Given the description of an element on the screen output the (x, y) to click on. 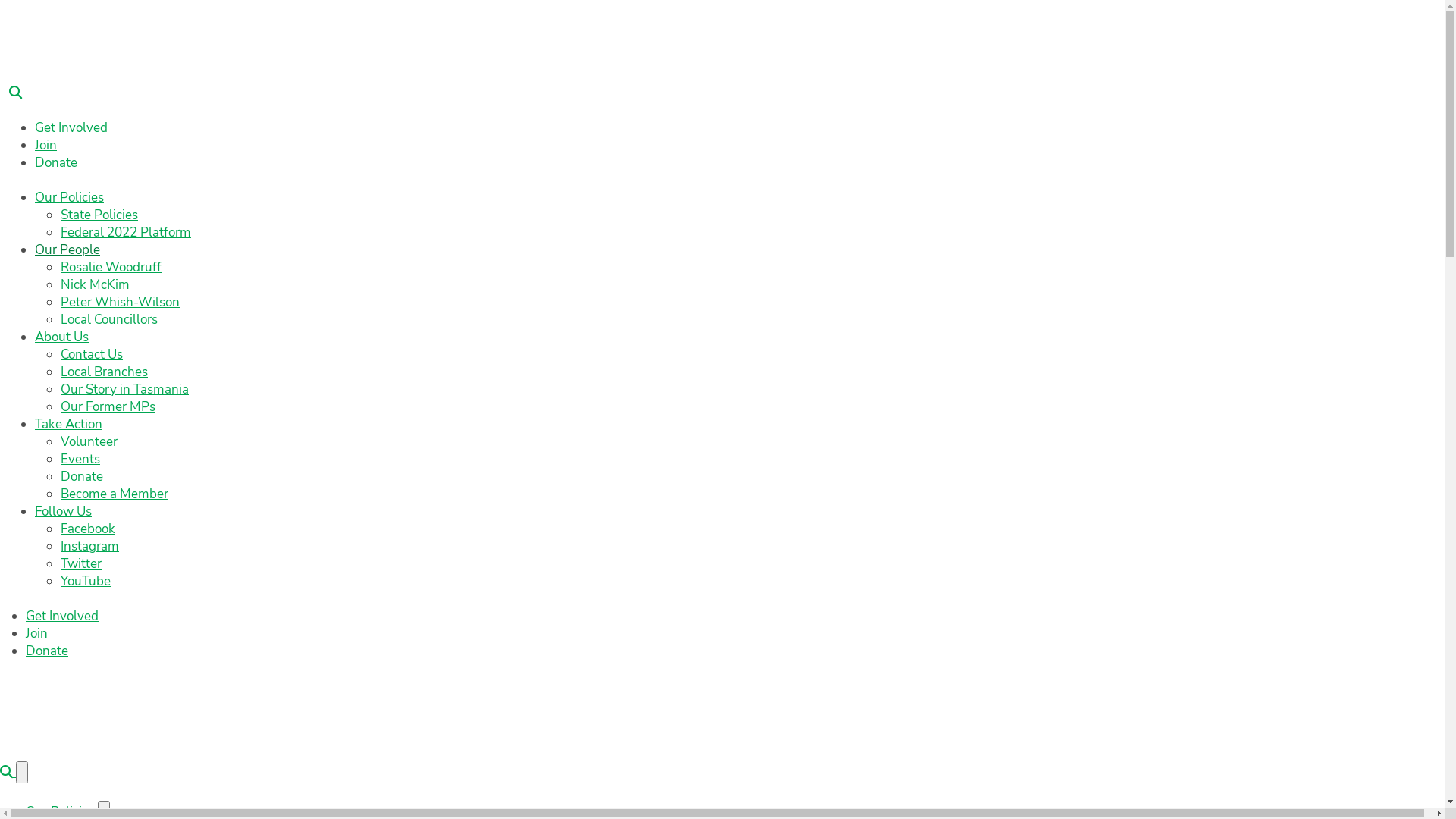
Join Element type: text (45, 144)
Search Element type: text (15, 92)
Volunteer Element type: text (88, 441)
Federal 2022 Platform Element type: text (125, 232)
Our Story in Tasmania Element type: text (124, 389)
About Us Element type: text (61, 336)
Peter Whish-Wilson Element type: text (119, 301)
Twitter Element type: text (80, 563)
Nick McKim Element type: text (94, 284)
Follow Us Element type: text (62, 511)
Facebook Element type: text (87, 528)
Contact Us Element type: text (91, 354)
Rosalie Woodruff Element type: text (110, 267)
Our Policies Element type: text (68, 197)
State Policies Element type: text (99, 214)
Search Element type: text (7, 772)
Become a Member Element type: text (114, 493)
Donate Element type: text (81, 476)
Get Involved Element type: text (70, 127)
Our People Element type: text (67, 249)
Take Action Element type: text (68, 424)
Our Former MPs Element type: text (107, 406)
Donate Element type: text (46, 650)
YouTube Element type: text (85, 580)
Events Element type: text (80, 458)
Get Involved Element type: text (61, 615)
Local Councillors Element type: text (108, 319)
Skip to main content Element type: text (0, 0)
Instagram Element type: text (89, 546)
Join Element type: text (36, 633)
Donate Element type: text (55, 162)
Local Branches Element type: text (103, 371)
